Given the description of an element on the screen output the (x, y) to click on. 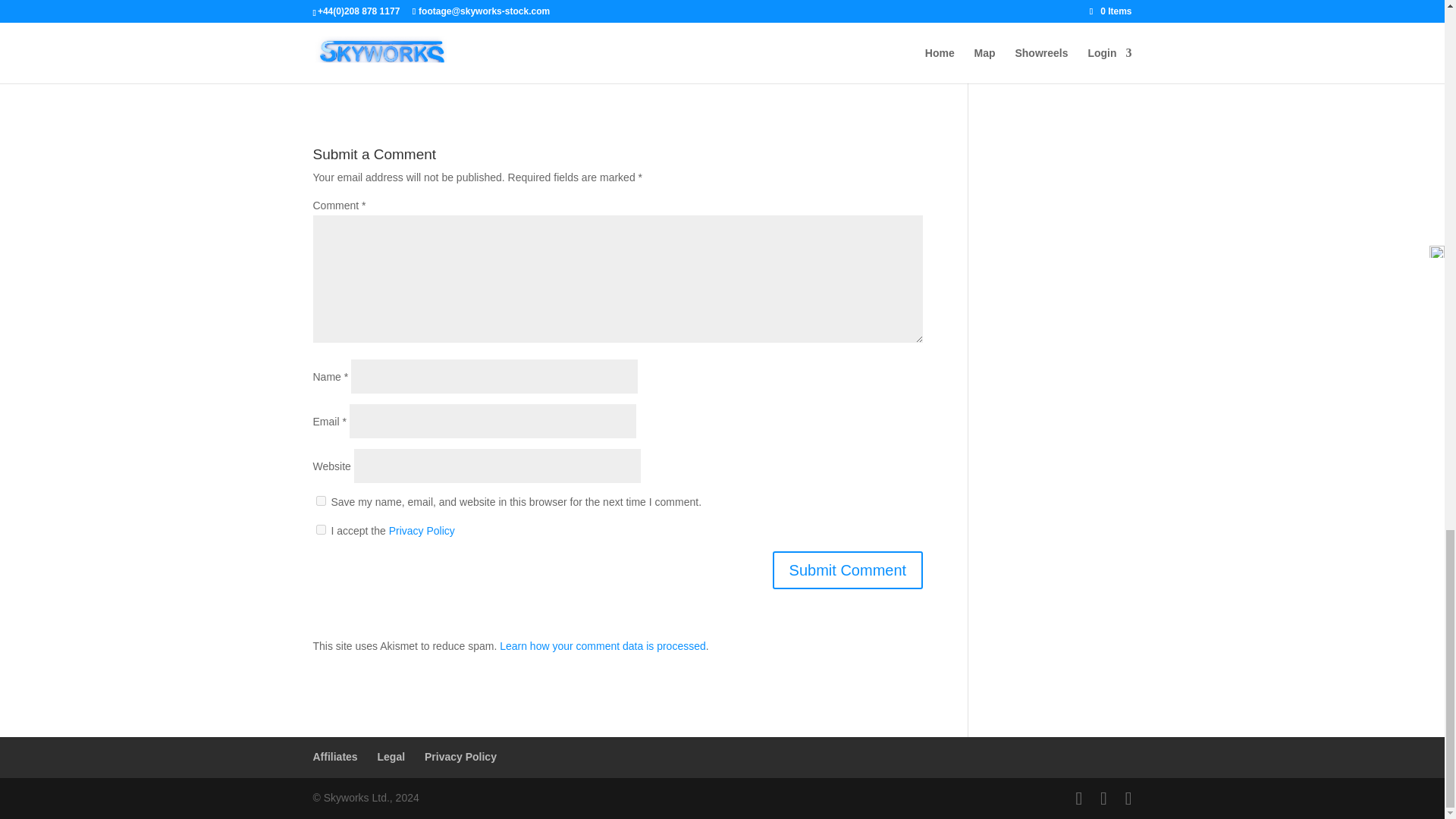
Affiliates (334, 756)
Submit Comment (848, 569)
Privacy Policy (460, 756)
Legal (391, 756)
Submit Comment (848, 569)
Privacy Policy (421, 530)
yes (319, 501)
Learn how your comment data is processed (602, 645)
1 (319, 529)
